Given the description of an element on the screen output the (x, y) to click on. 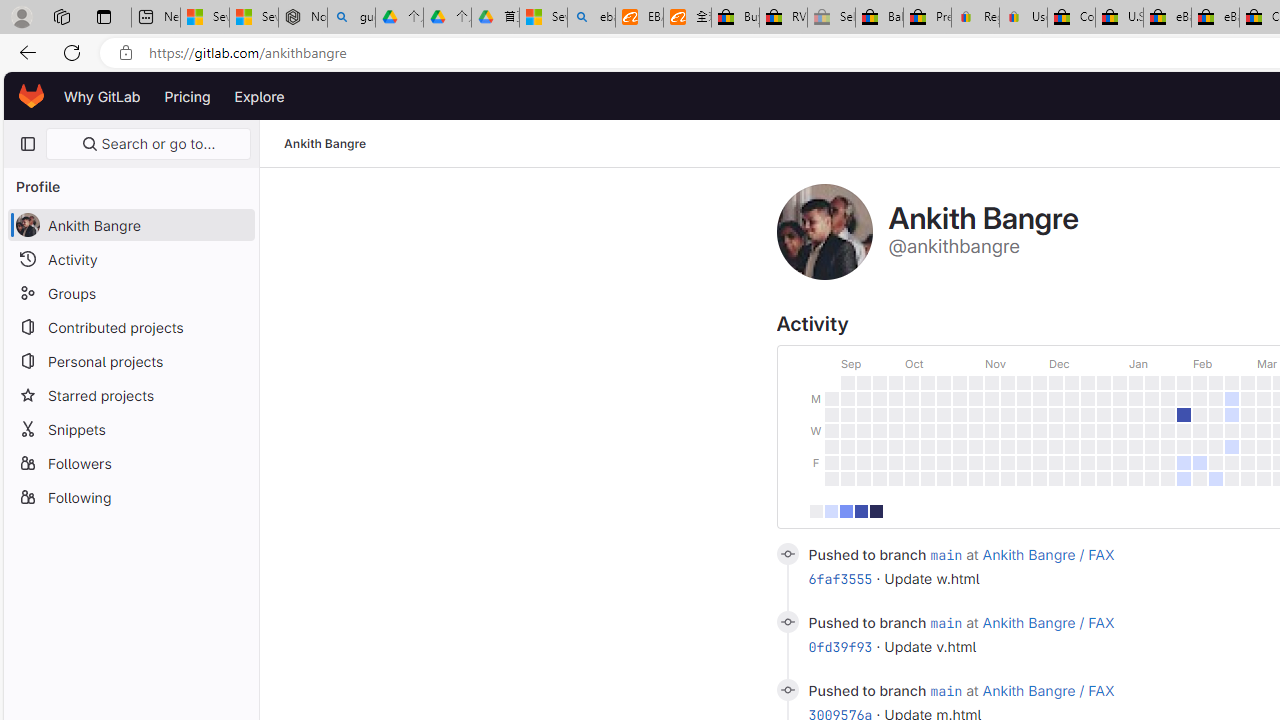
Followers (130, 462)
Pricing (187, 95)
